Given the description of an element on the screen output the (x, y) to click on. 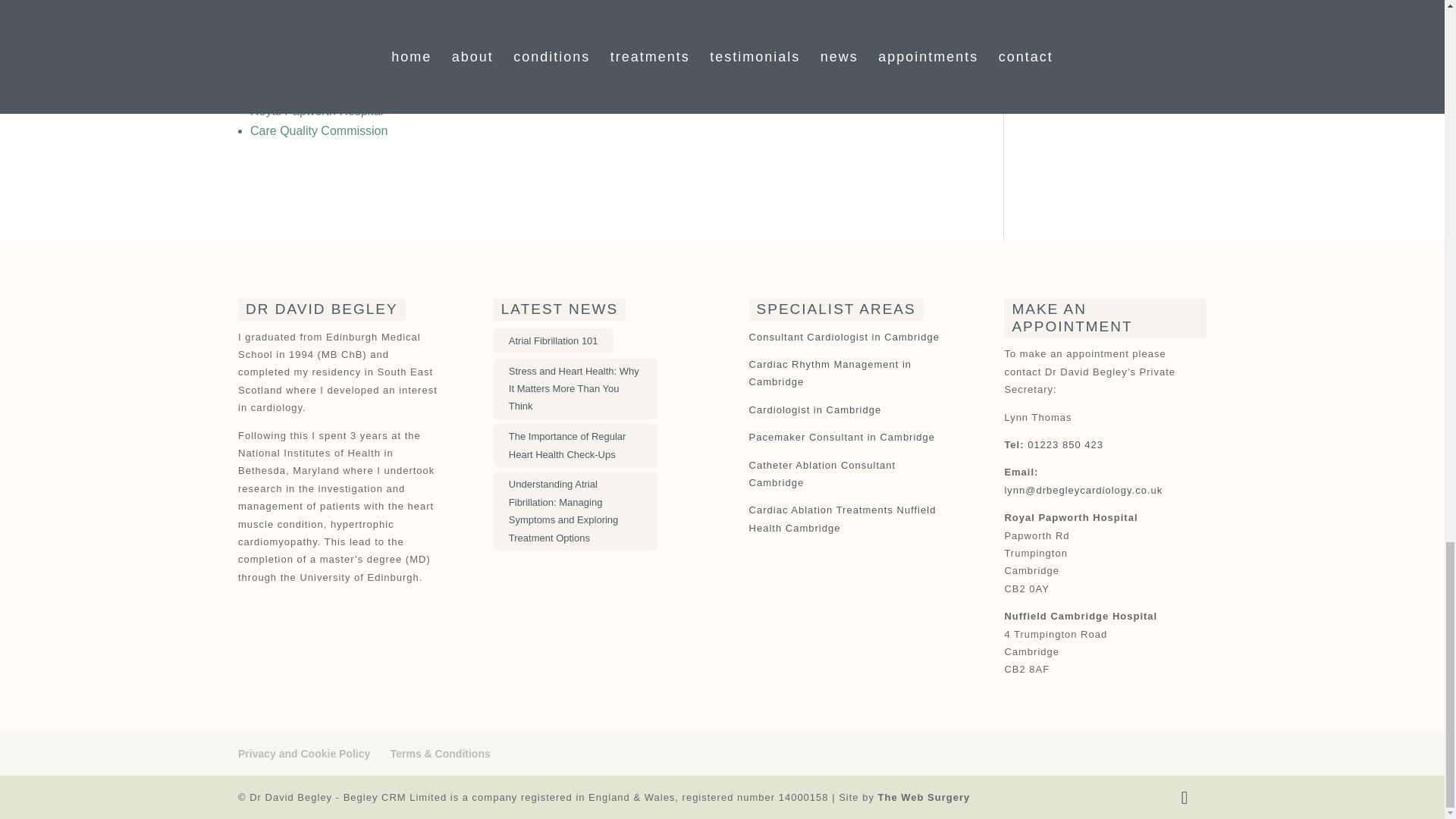
BBC (262, 51)
Care Quality Commission (318, 130)
HSJ (261, 91)
ITV (259, 71)
Royal Papworth Hospital (316, 110)
